Given the description of an element on the screen output the (x, y) to click on. 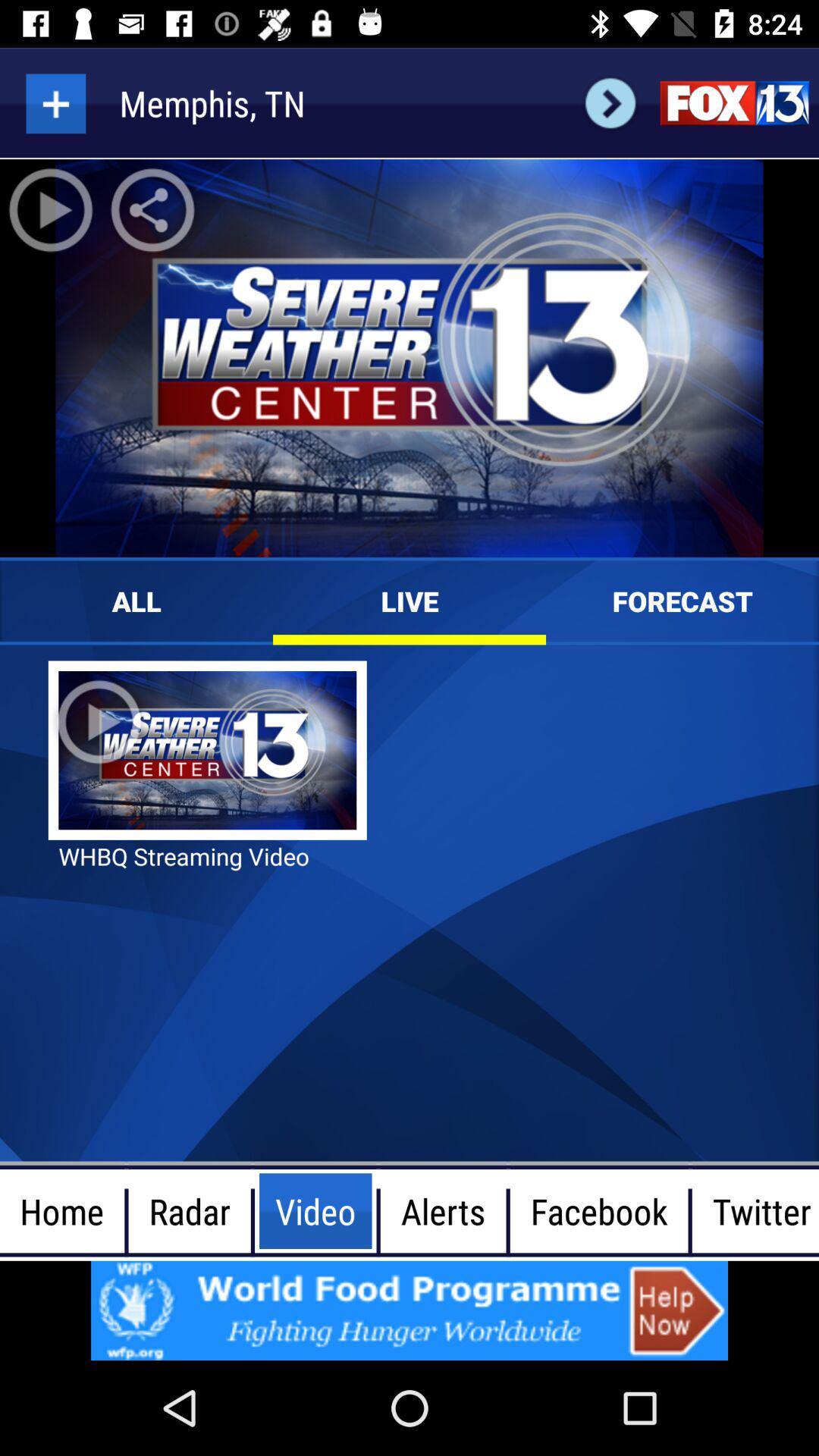
google advertisements (409, 1310)
